Given the description of an element on the screen output the (x, y) to click on. 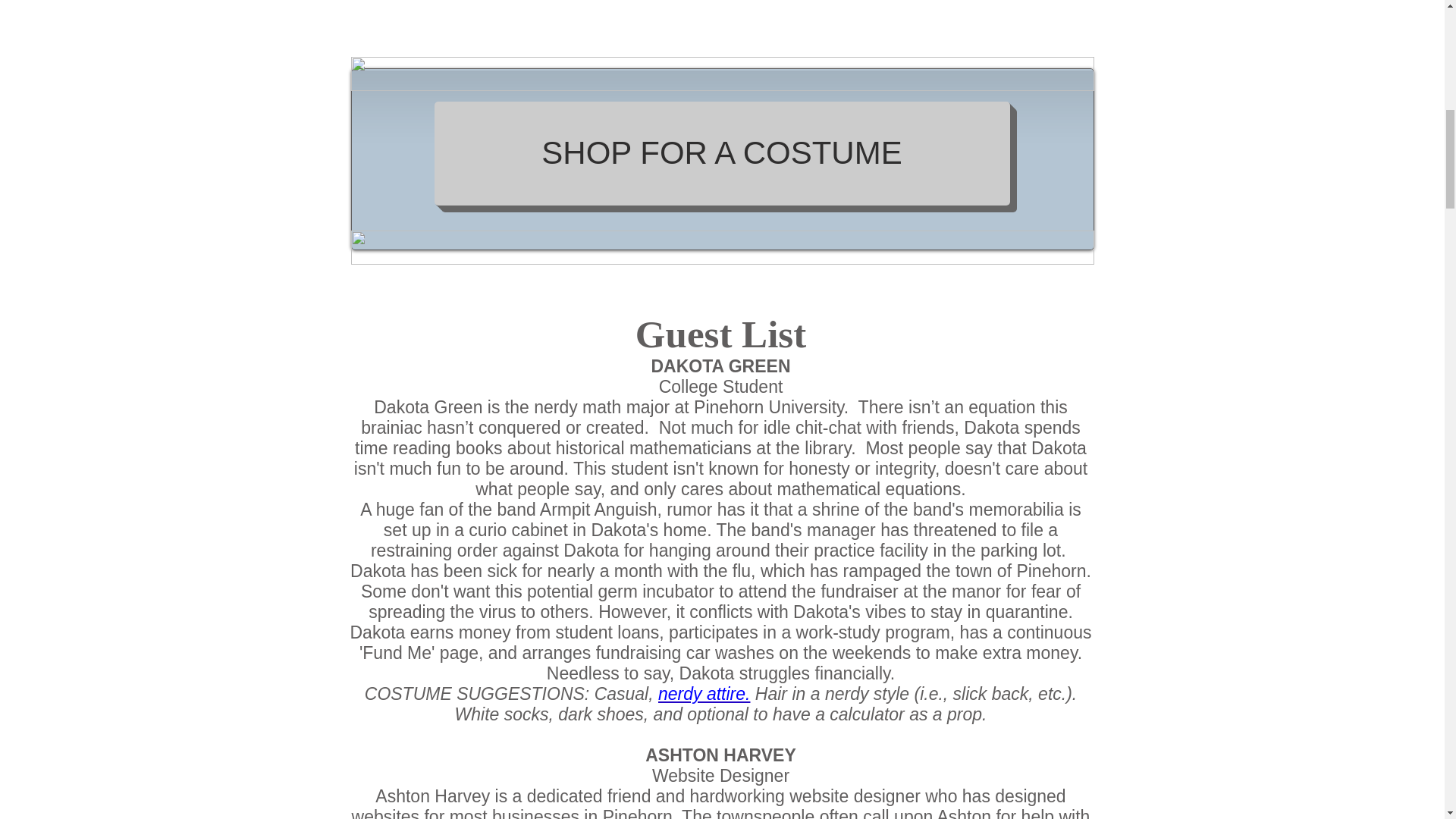
caution.png (721, 247)
caution.png (721, 73)
